Given the description of an element on the screen output the (x, y) to click on. 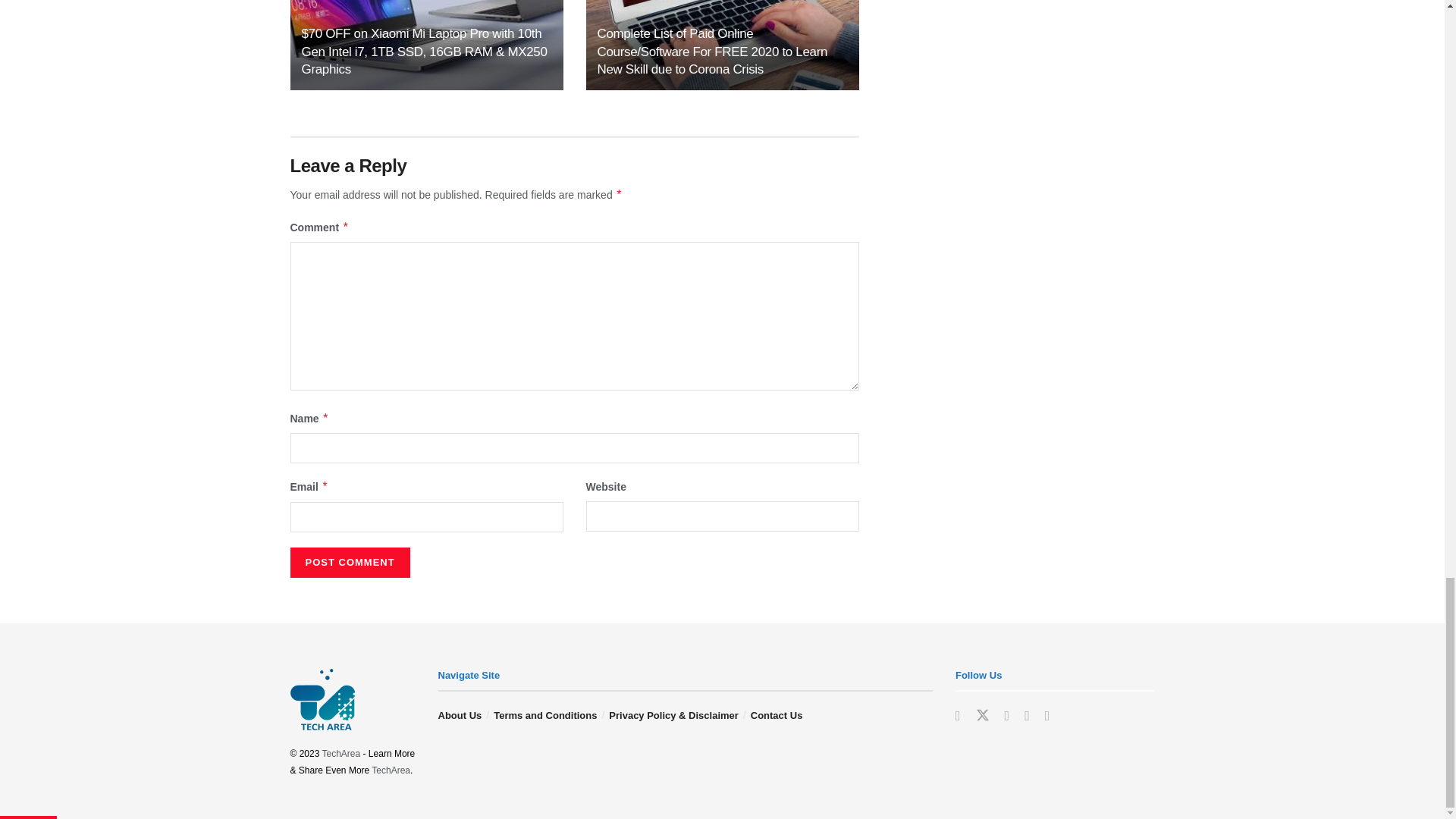
TechArea (390, 769)
Post Comment (349, 562)
